Given the description of an element on the screen output the (x, y) to click on. 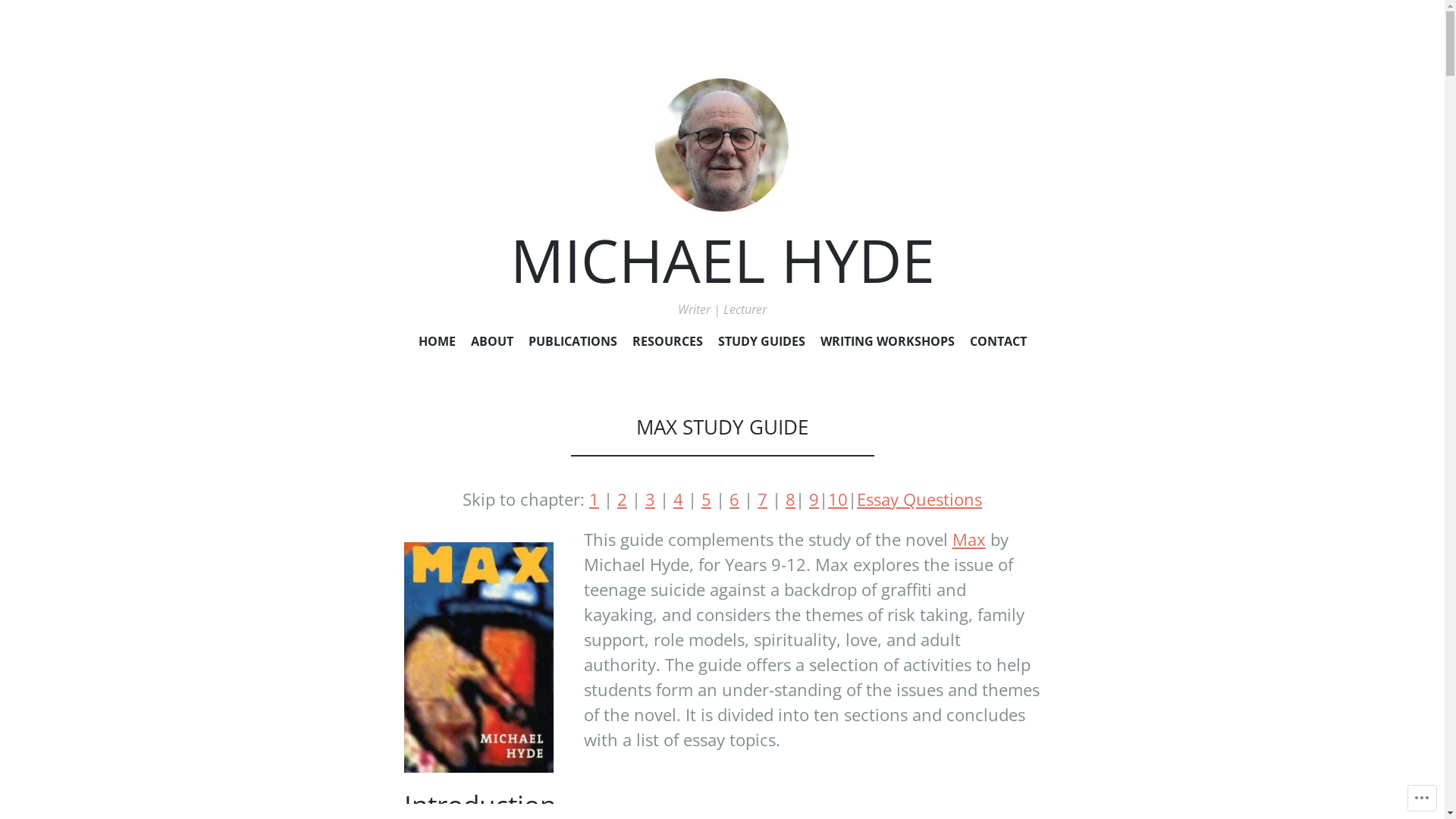
Max Element type: text (968, 538)
2 Element type: text (622, 498)
4 Element type: text (678, 498)
MICHAEL HYDE Element type: text (721, 259)
8 Element type: text (790, 498)
CONTACT Element type: text (997, 343)
HOME Element type: text (436, 343)
10 Element type: text (837, 498)
ABOUT Element type: text (491, 343)
WRITING WORKSHOPS Element type: text (887, 343)
3 Element type: text (650, 498)
7 Element type: text (762, 498)
STUDY GUIDES Element type: text (760, 343)
6 Element type: text (734, 498)
PUBLICATIONS Element type: text (571, 343)
9 Element type: text (814, 498)
1 Element type: text (594, 498)
RESOURCES Element type: text (667, 343)
Essay Questions Element type: text (919, 498)
5 Element type: text (706, 498)
